Given the description of an element on the screen output the (x, y) to click on. 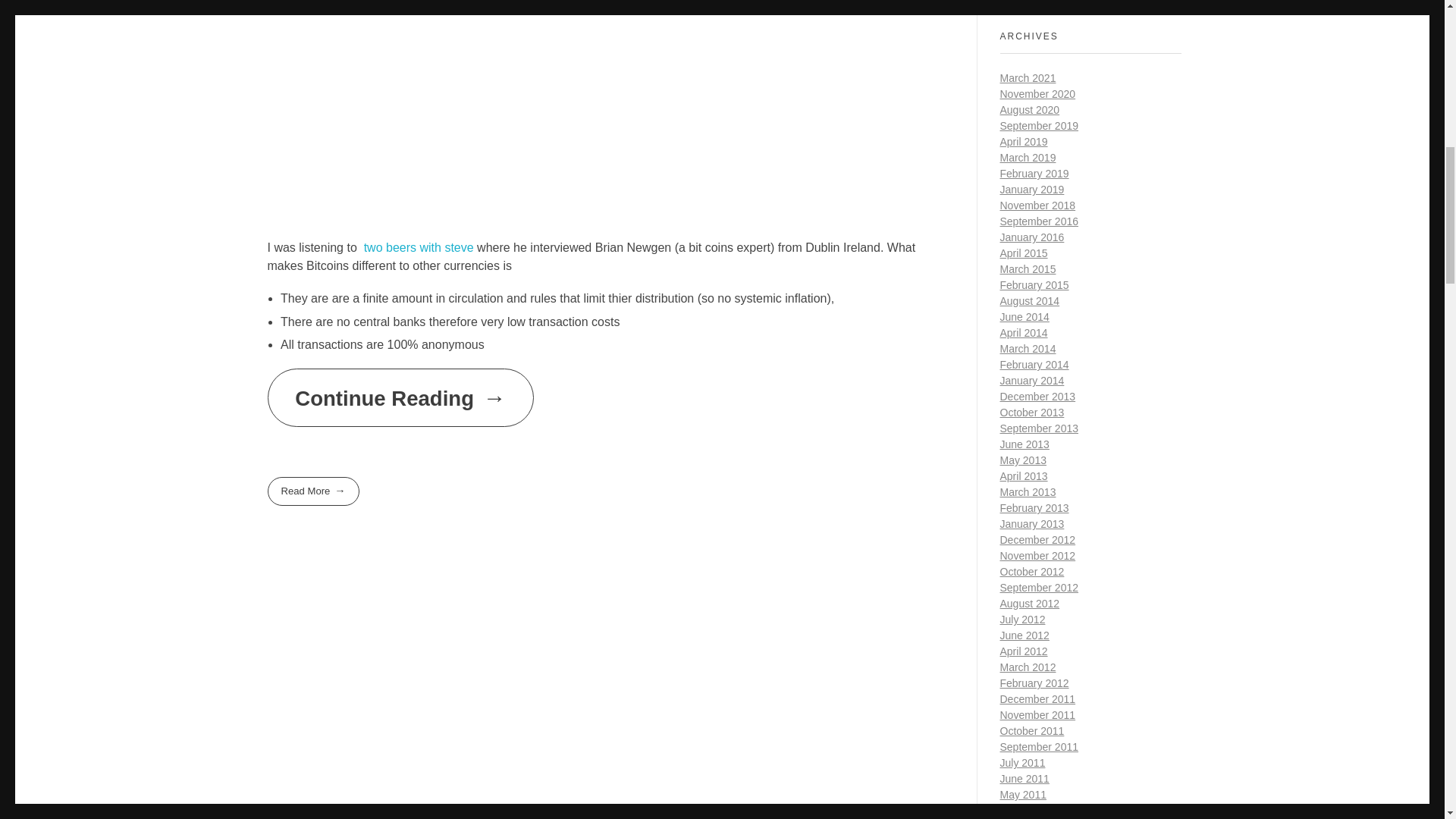
two beers with steve (419, 246)
January 2019 (1031, 189)
March 2019 (1026, 157)
December 2013 (1036, 396)
November 2020 (1036, 93)
February 2015 (1033, 285)
August 2014 (1028, 300)
March 2015 (1026, 268)
August 2020 (1028, 110)
January 2014 (1031, 380)
